Given the description of an element on the screen output the (x, y) to click on. 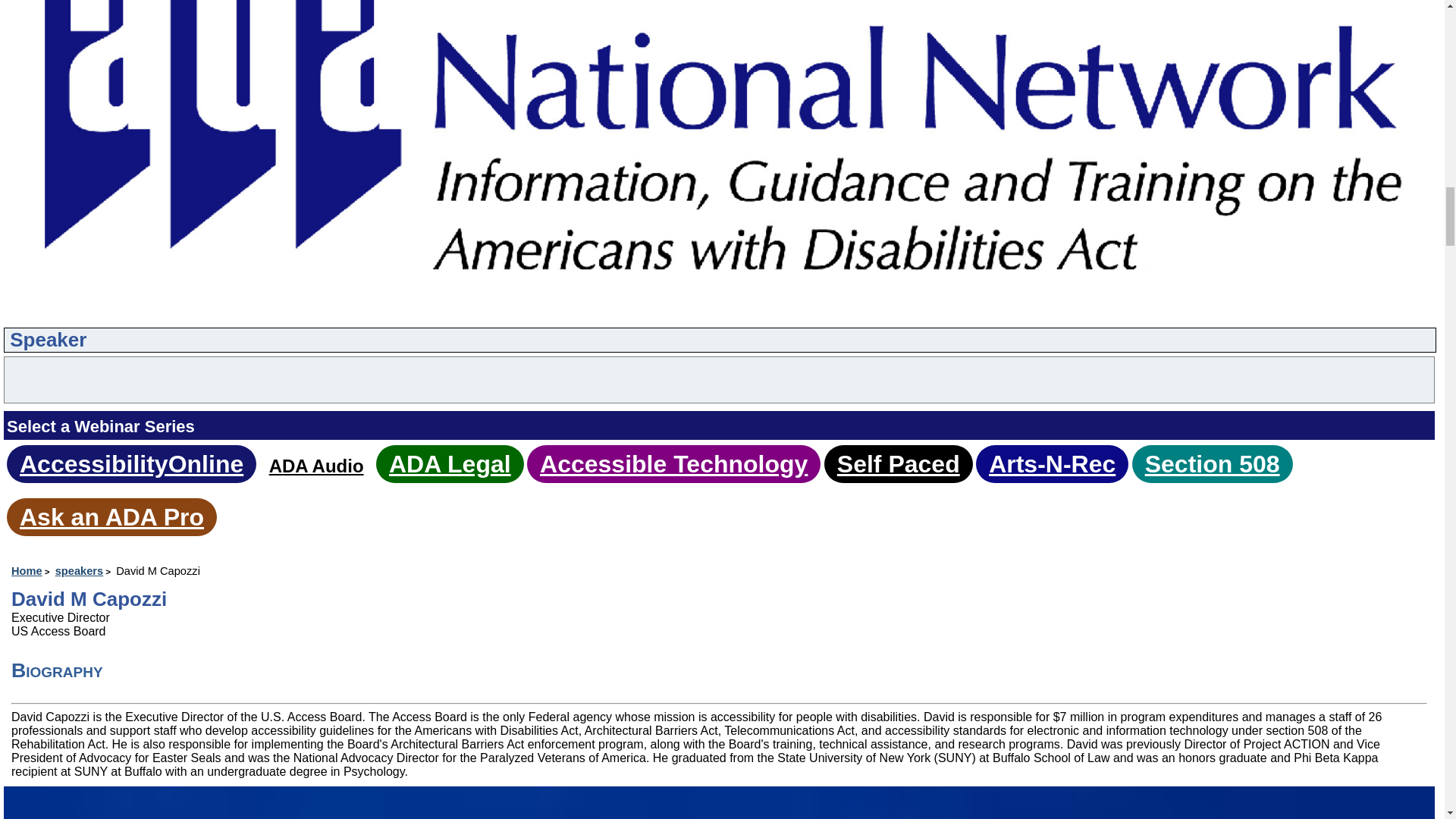
Ask an ADA Pro (111, 516)
speakers (84, 571)
AccessibilityOnline (131, 463)
Self Paced (898, 463)
ADA Audio (316, 465)
Home (31, 571)
Accessible Technology (674, 463)
ADA Legal (449, 463)
Section 508 (1211, 463)
